Given the description of an element on the screen output the (x, y) to click on. 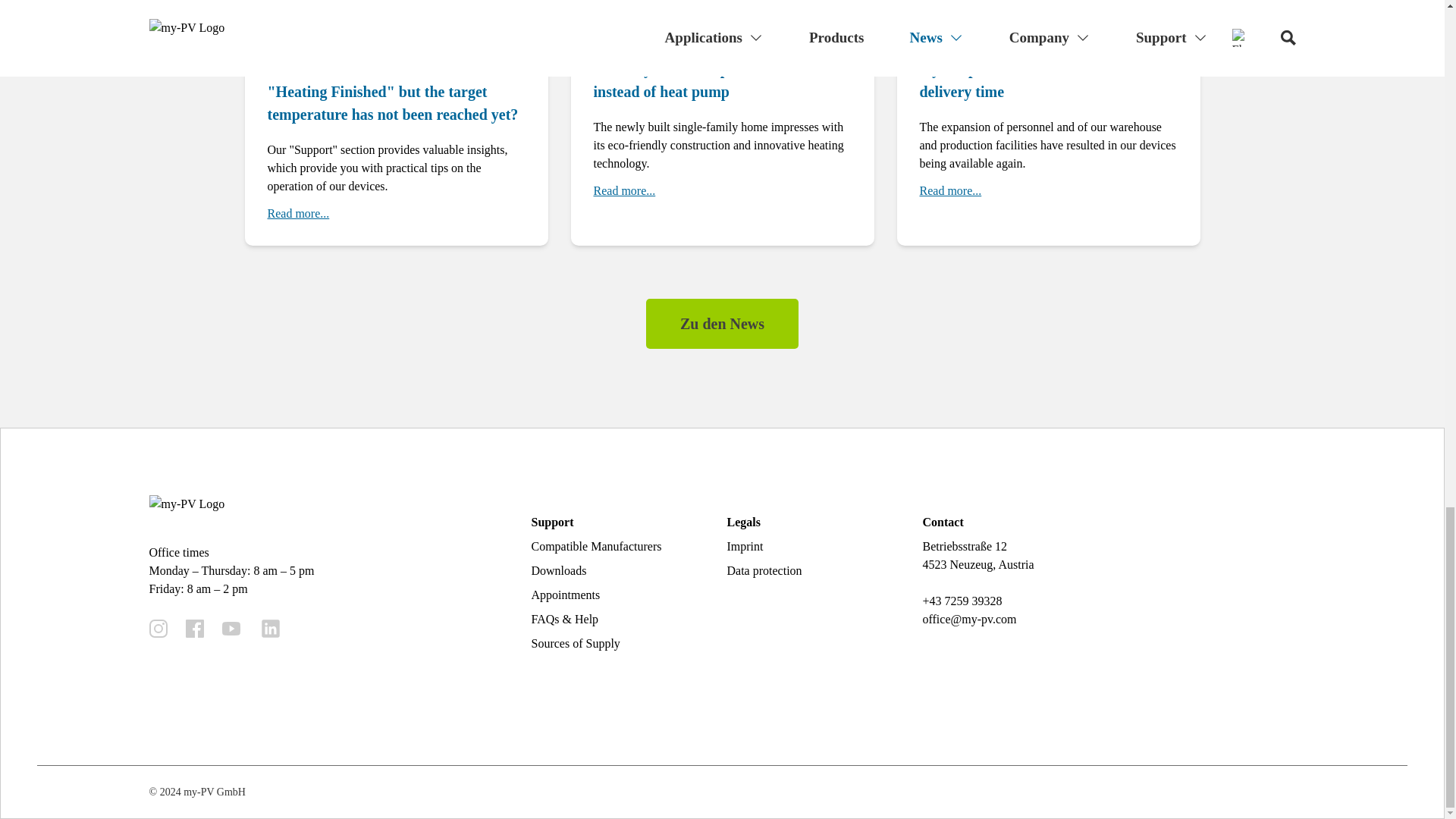
Downloads (558, 570)
Sources of Supply (575, 643)
Read more... (297, 213)
Compatible Manufacturers (596, 545)
Appointments (565, 594)
Zu den News (721, 323)
Read more... (623, 190)
Imprint (744, 545)
Data protection (764, 570)
Read more... (949, 190)
